Given the description of an element on the screen output the (x, y) to click on. 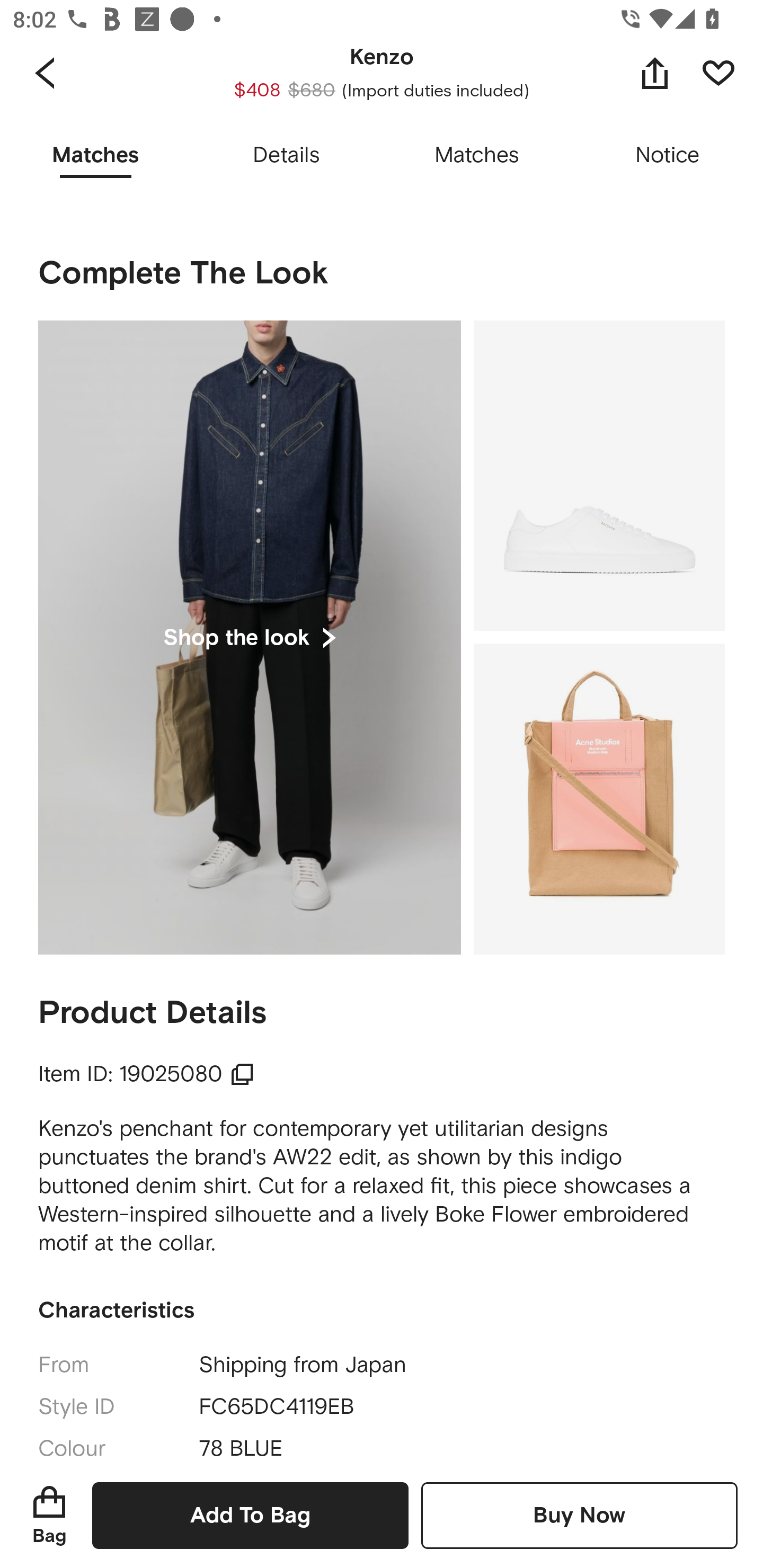
Select 2 size(s) available (349, 84)
Details (285, 155)
Matches (476, 155)
Notice (667, 155)
Item ID: 19025080 (146, 1074)
Bag (49, 1515)
Add To Bag (250, 1515)
Buy Now (579, 1515)
